Given the description of an element on the screen output the (x, y) to click on. 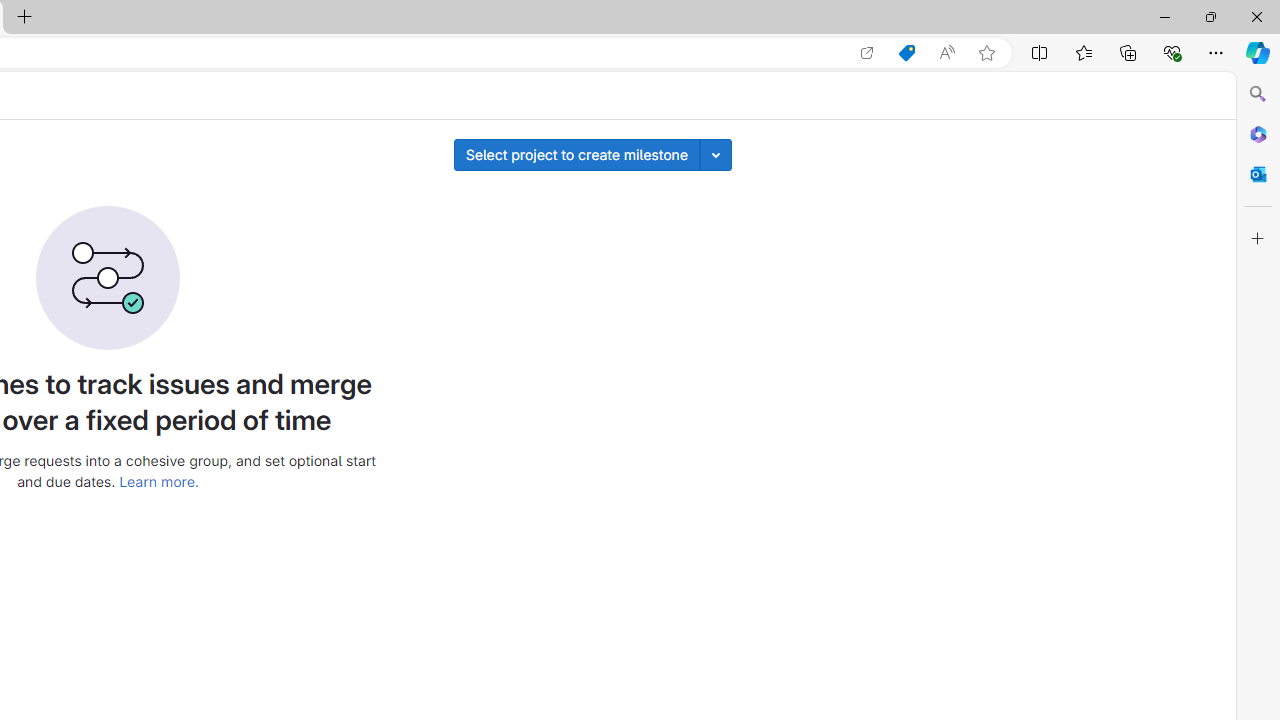
Learn more. (158, 481)
Customize (1258, 239)
Microsoft 365 (1258, 133)
Shopping in Microsoft Edge (906, 53)
Close Outlook pane (1258, 174)
Toggle project select (716, 154)
Select project to create milestone (576, 154)
